Given the description of an element on the screen output the (x, y) to click on. 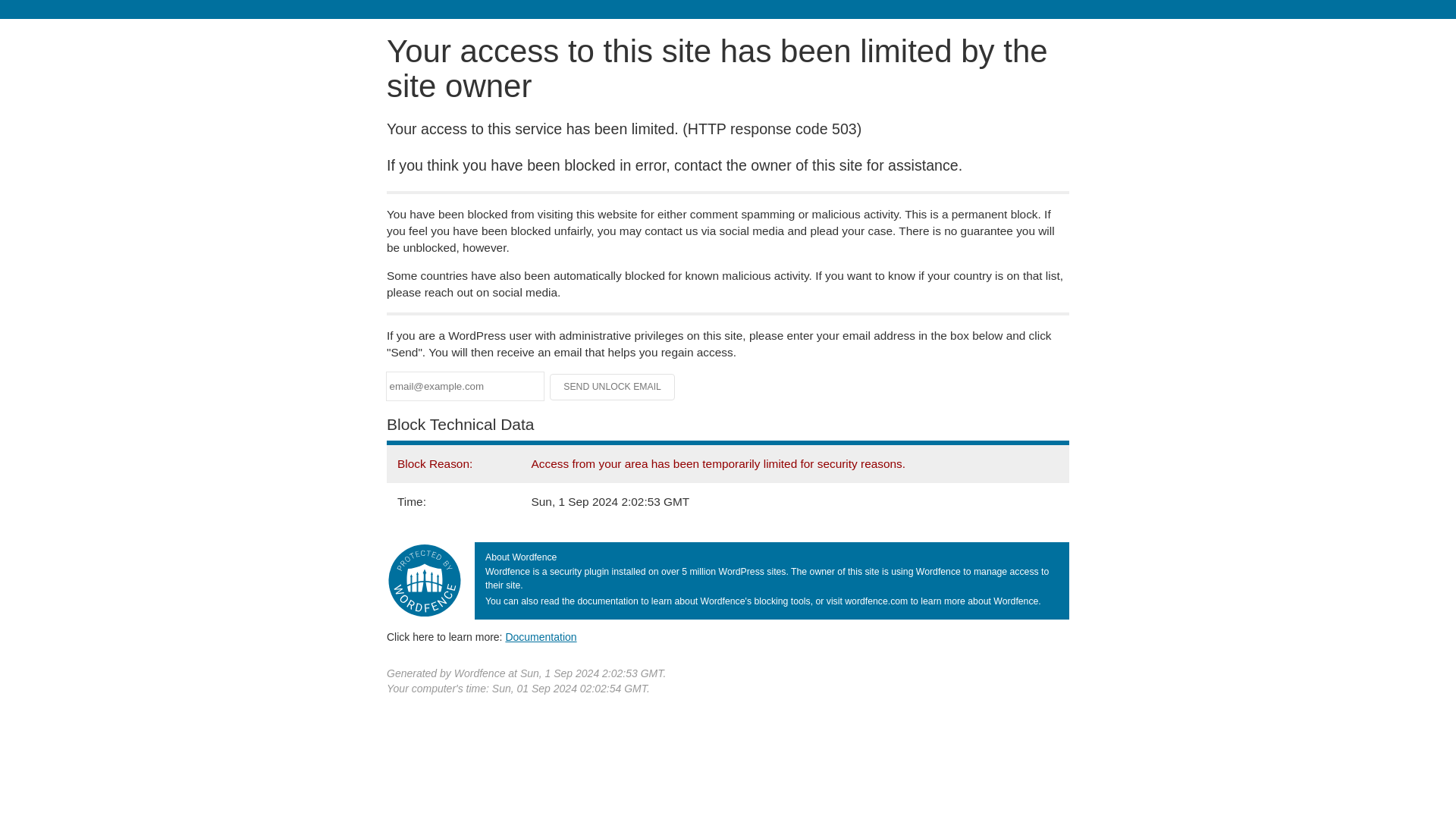
Documentation (540, 636)
Send Unlock Email (612, 386)
Send Unlock Email (612, 386)
